Given the description of an element on the screen output the (x, y) to click on. 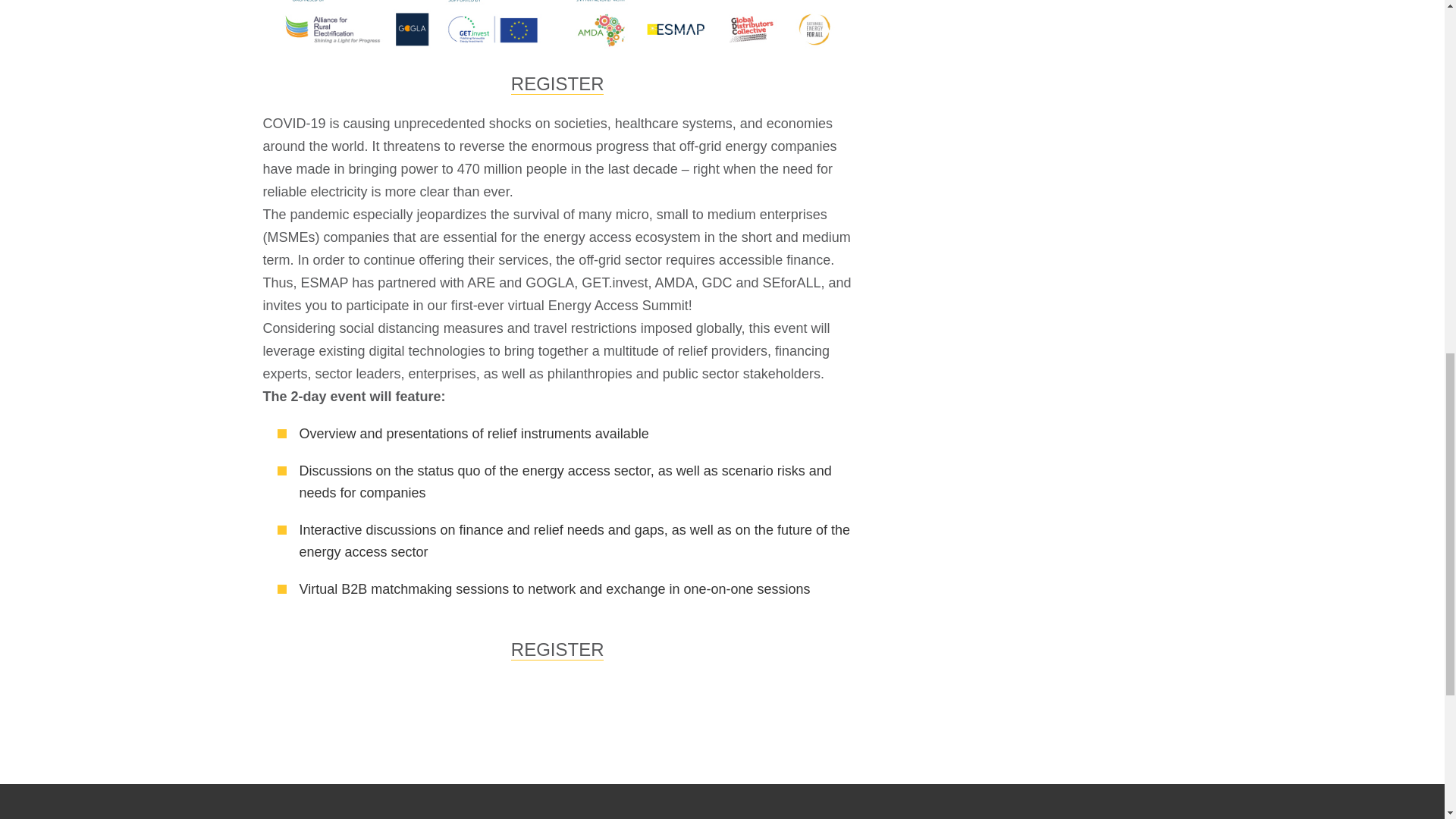
REGISTER (557, 649)
REGISTER (557, 84)
